Given the description of an element on the screen output the (x, y) to click on. 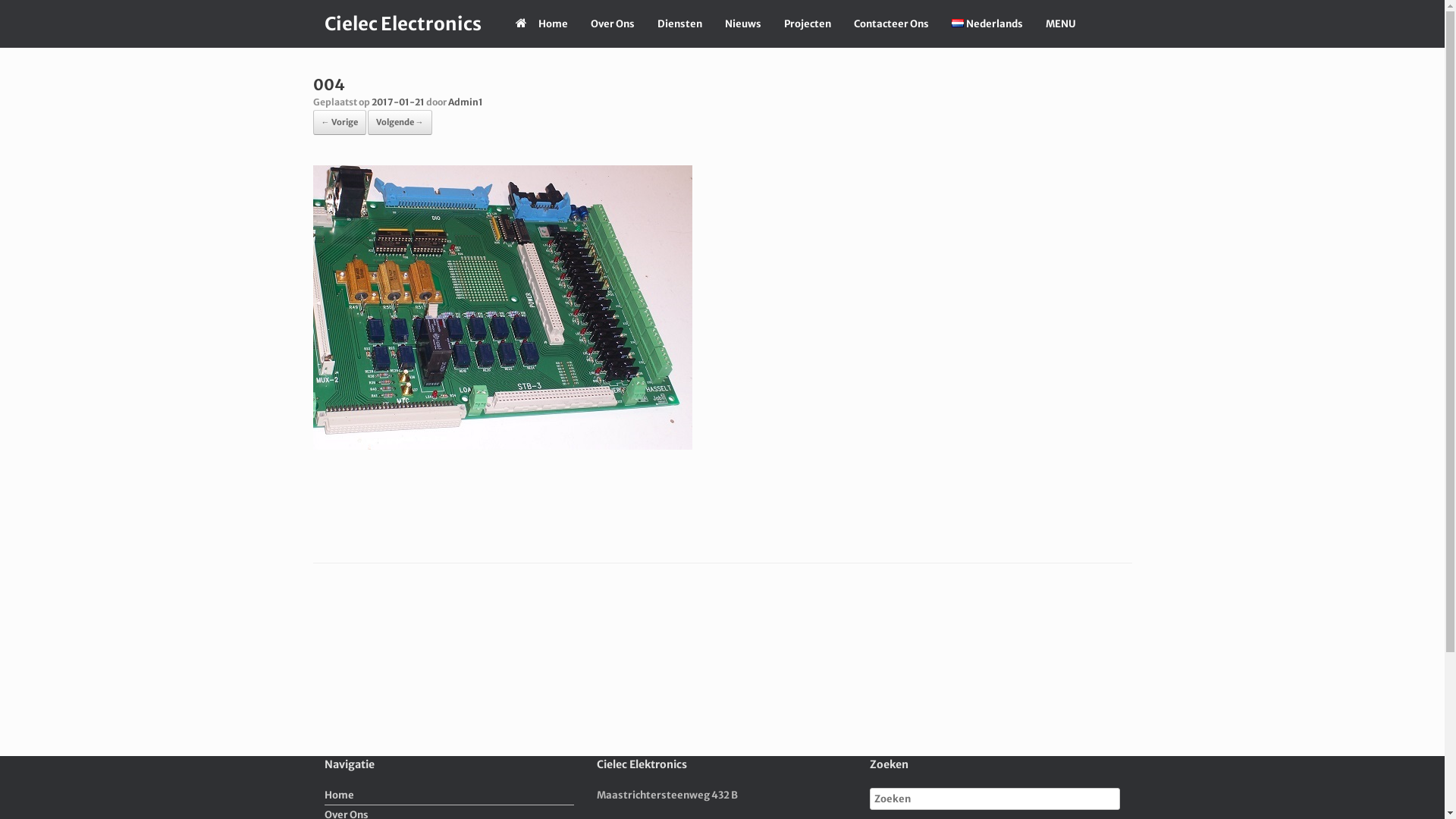
Cielec Electronics Element type: text (402, 23)
004 Element type: hover (501, 444)
Over Ons Element type: text (612, 23)
Home Element type: text (540, 23)
MENU Element type: text (1060, 23)
Admin1 Element type: text (464, 101)
2017-01-21 Element type: text (397, 101)
Nederlands Element type: text (987, 23)
Diensten Element type: text (679, 23)
Projecten Element type: text (806, 23)
Nieuws Element type: text (741, 23)
Home Element type: text (449, 796)
Contacteer Ons Element type: text (890, 23)
